Given the description of an element on the screen output the (x, y) to click on. 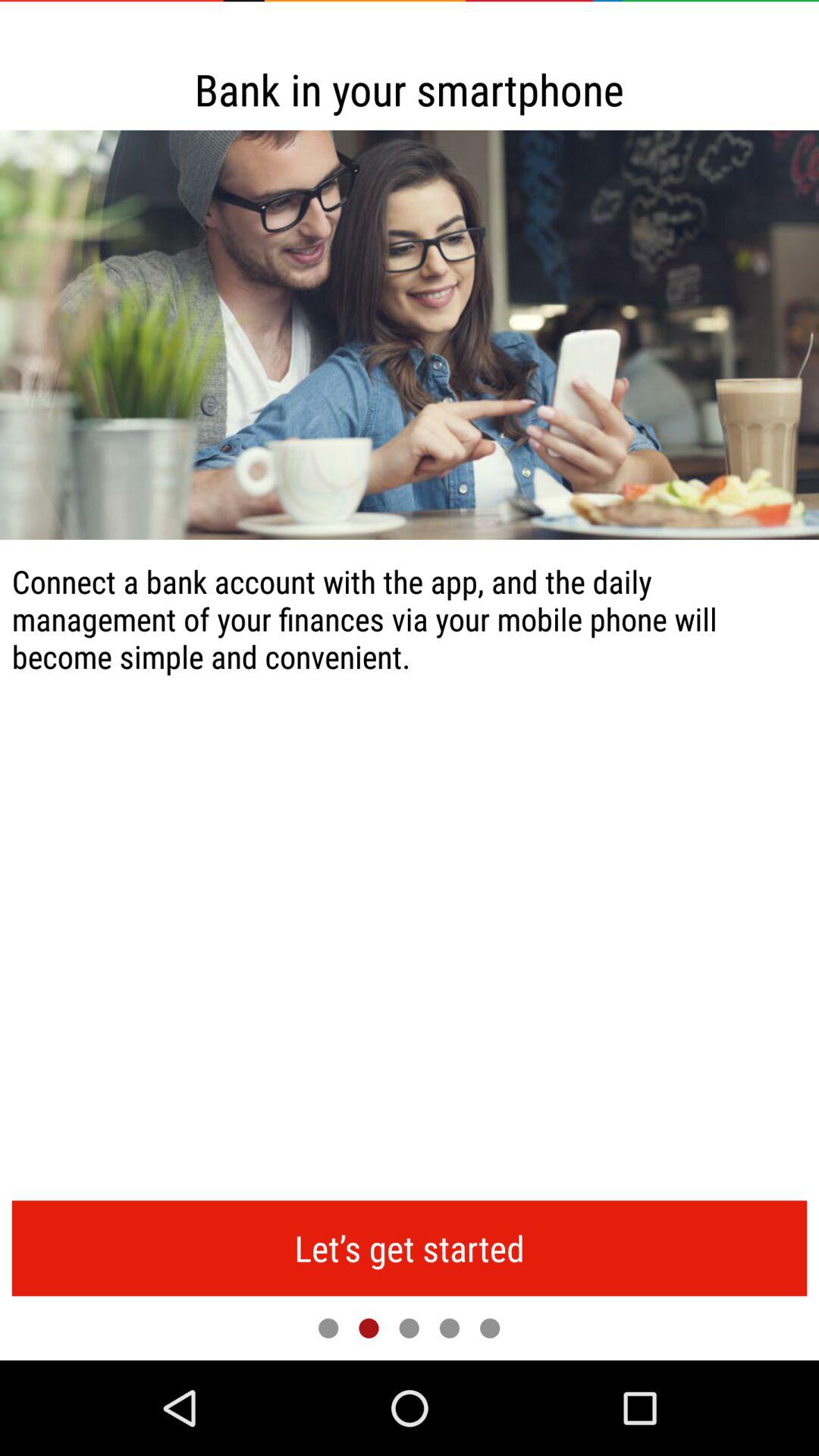
next page (489, 1328)
